Given the description of an element on the screen output the (x, y) to click on. 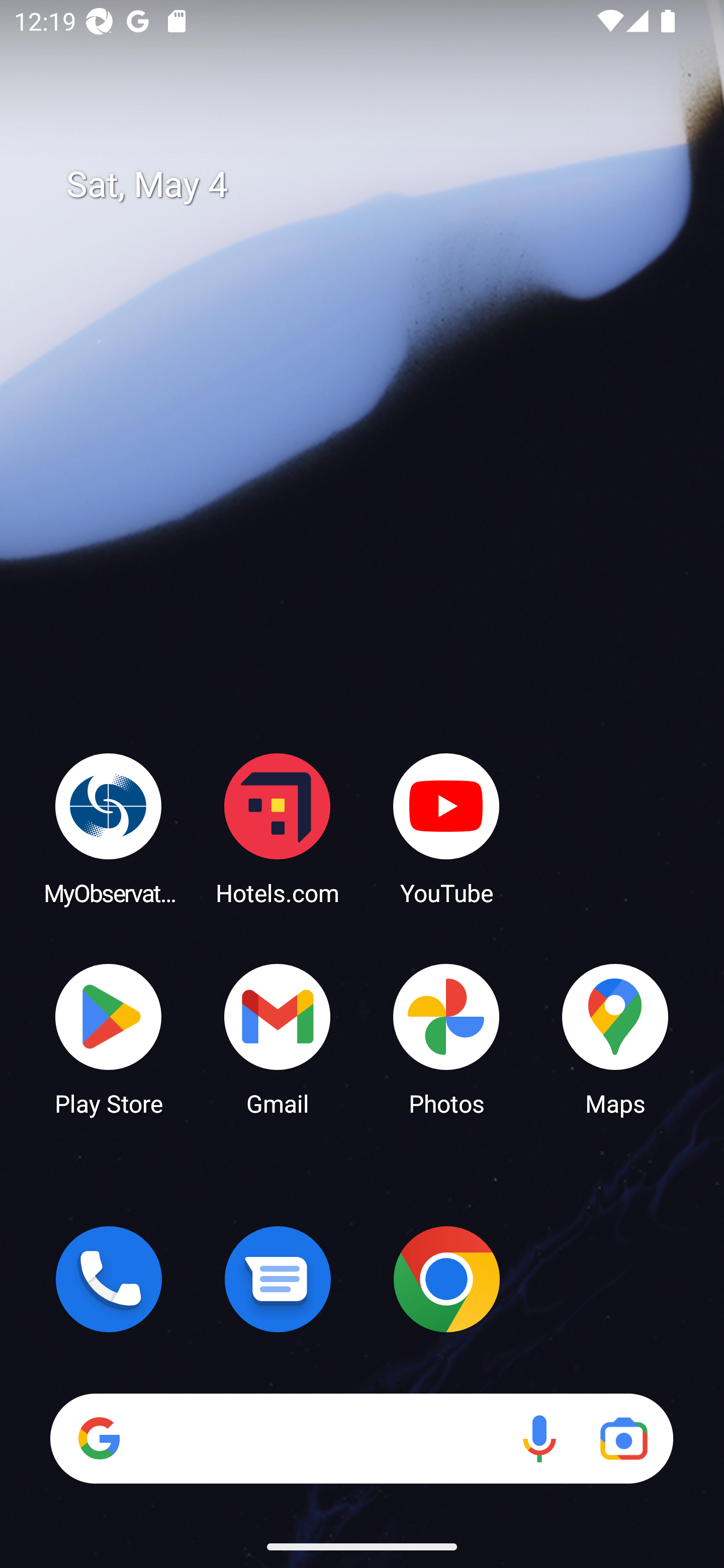
Sat, May 4 (375, 184)
MyObservatory (108, 828)
Hotels.com (277, 828)
YouTube (445, 828)
Play Store (108, 1038)
Gmail (277, 1038)
Photos (445, 1038)
Maps (615, 1038)
Phone (108, 1279)
Messages (277, 1279)
Chrome (446, 1279)
Search Voice search Google Lens (361, 1438)
Voice search (539, 1438)
Google Lens (623, 1438)
